Given the description of an element on the screen output the (x, y) to click on. 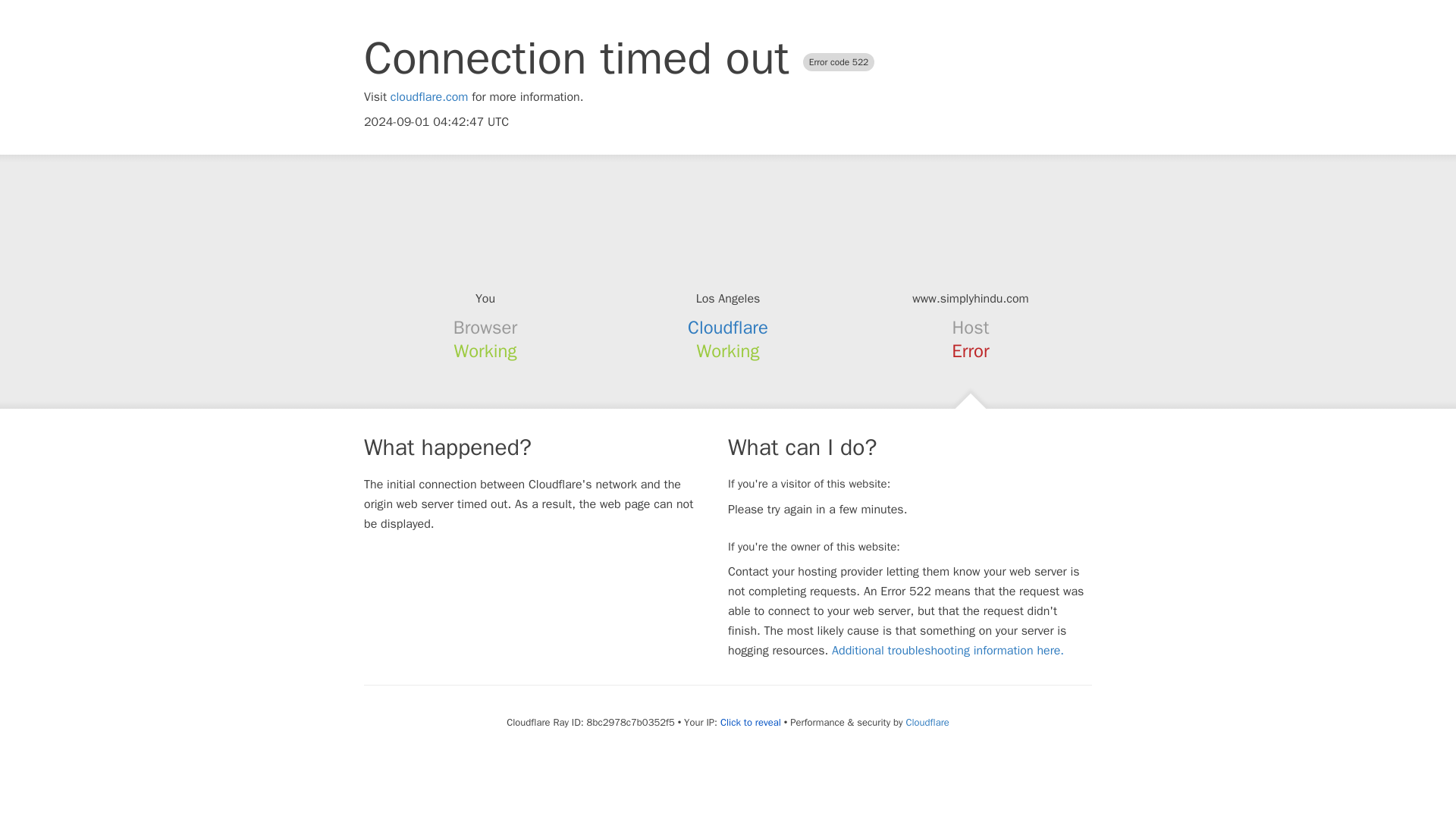
Cloudflare (727, 327)
cloudflare.com (429, 96)
Cloudflare (927, 721)
Additional troubleshooting information here. (947, 650)
Click to reveal (750, 722)
